Given the description of an element on the screen output the (x, y) to click on. 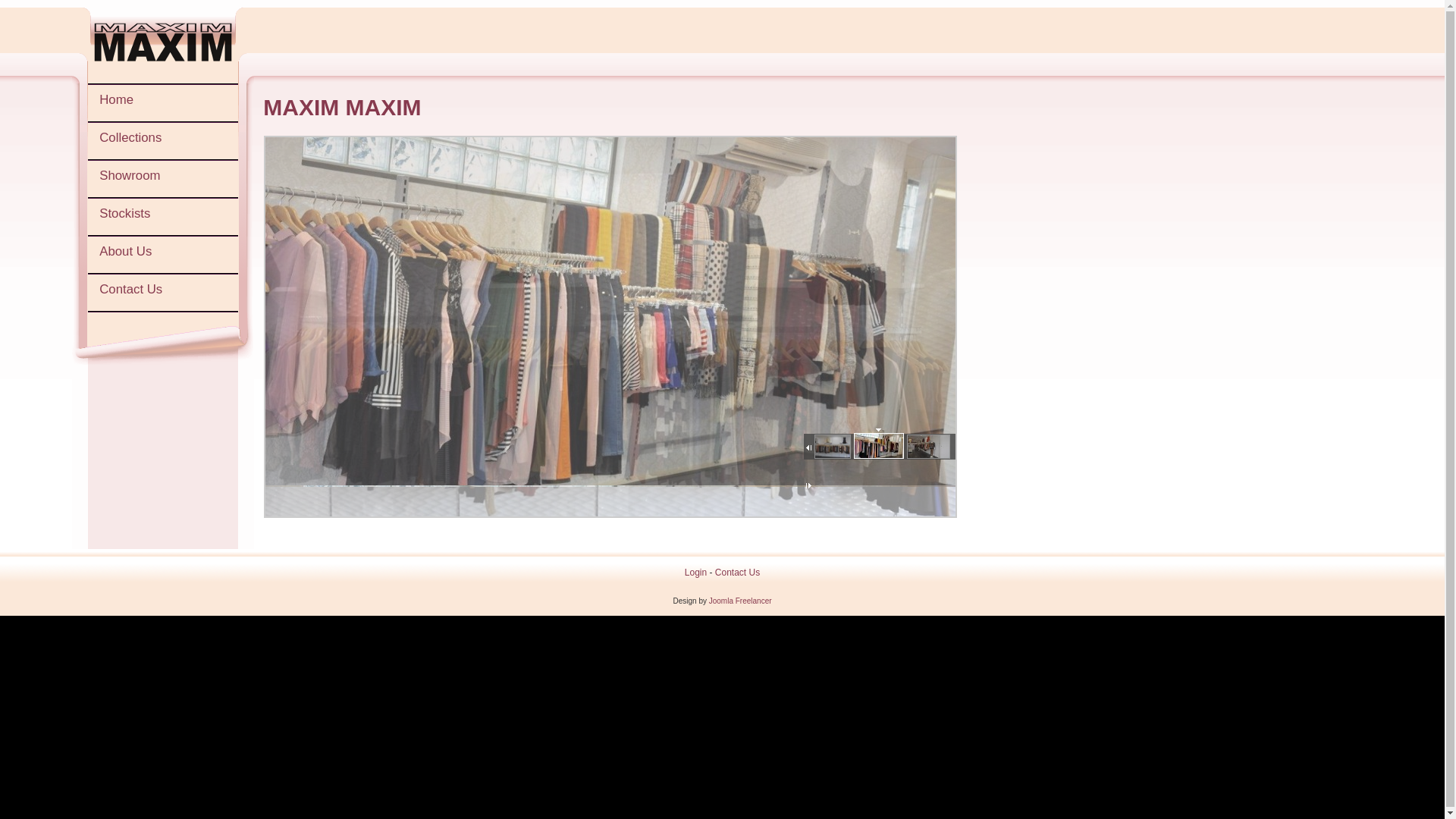
Contact Us Element type: text (737, 572)
About Us Element type: text (162, 255)
MAXIM MAXIM Element type: text (341, 106)
Login Element type: text (695, 572)
Showroom Element type: text (162, 179)
Home Element type: text (162, 103)
Stockists Element type: text (162, 217)
Contact Us Element type: text (162, 293)
Collections Element type: text (162, 141)
Joomla Freelancer Element type: text (740, 600)
